Given the description of an element on the screen output the (x, y) to click on. 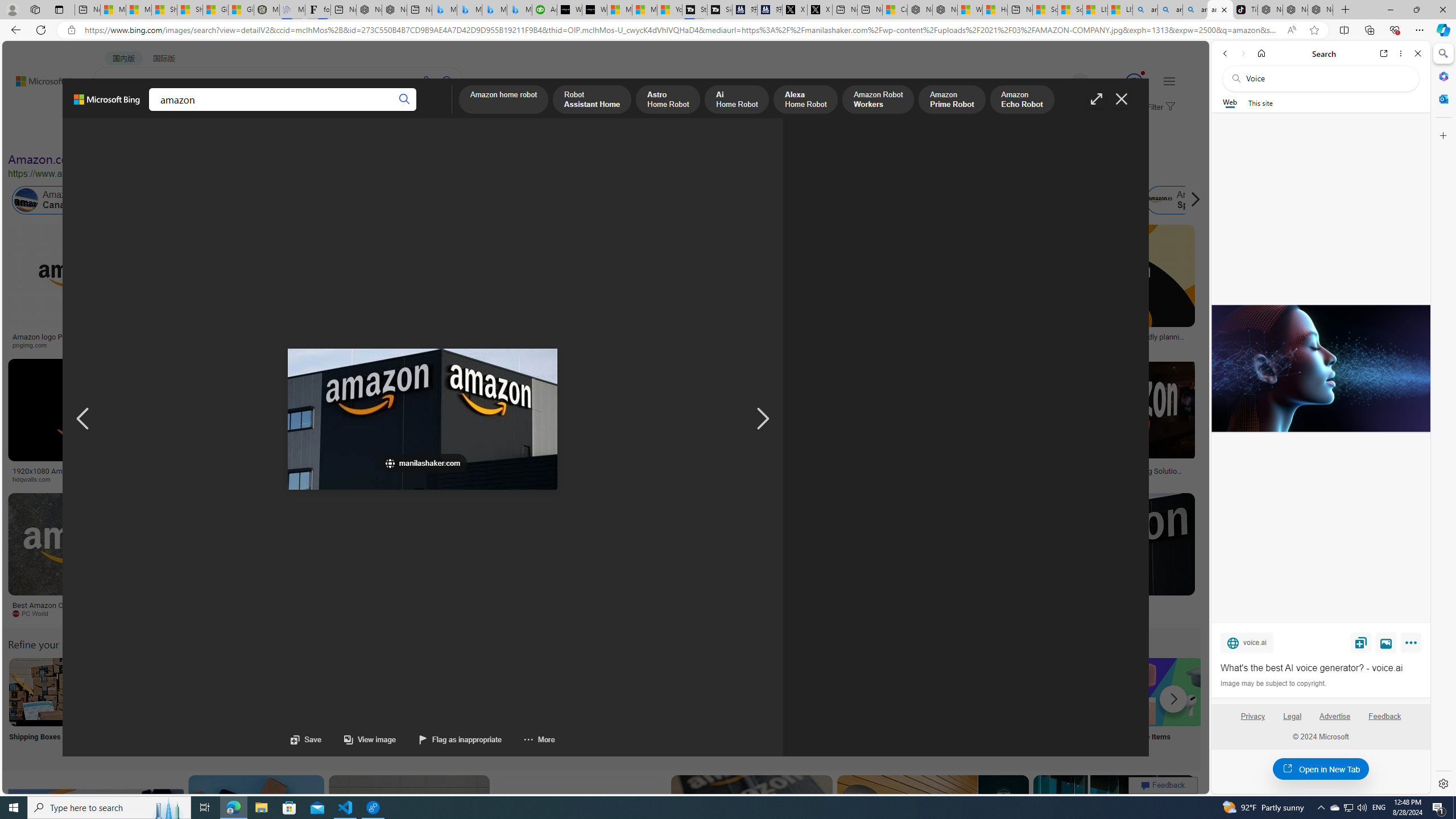
usatoday.com (334, 344)
hdqwalls.com (96, 479)
Online Store (644, 706)
Amazon Online Store Online Store (644, 706)
Amazon Labor Law Violation in California (564, 200)
Flag as inappropriate (460, 739)
Microsoft Rewards 135 (1120, 81)
Amazon Clip Art Clip Art (192, 706)
Dallas Morning News (791, 479)
Amazon Prime price jumping to $99 in the US - The Verge (422, 419)
